Given the description of an element on the screen output the (x, y) to click on. 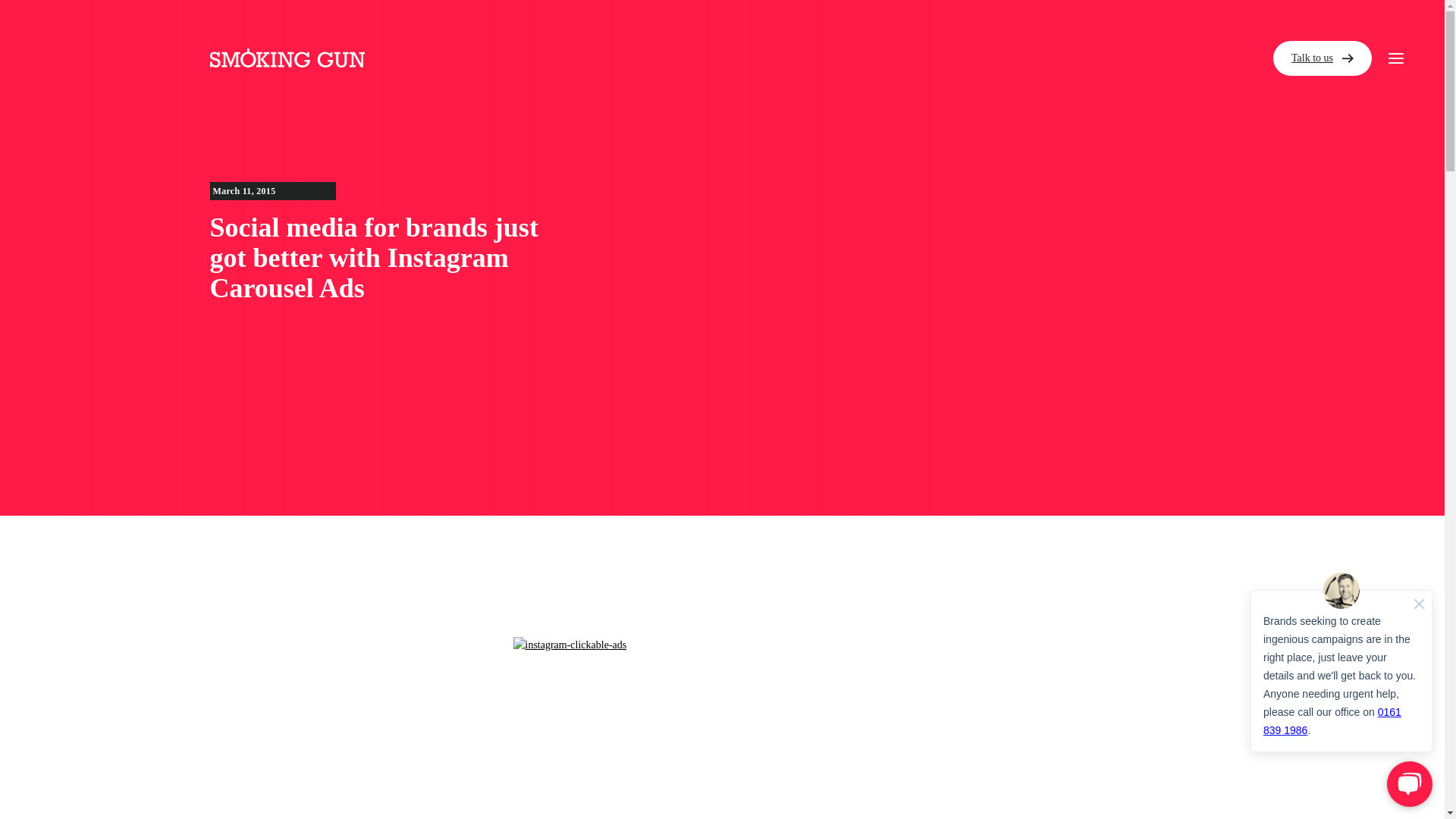
Smoking Gun PR (287, 57)
Talk to us (1321, 58)
talk to us (897, 209)
resources and news (975, 21)
apprenticeships (947, 145)
jobs (857, 81)
